Given the description of an element on the screen output the (x, y) to click on. 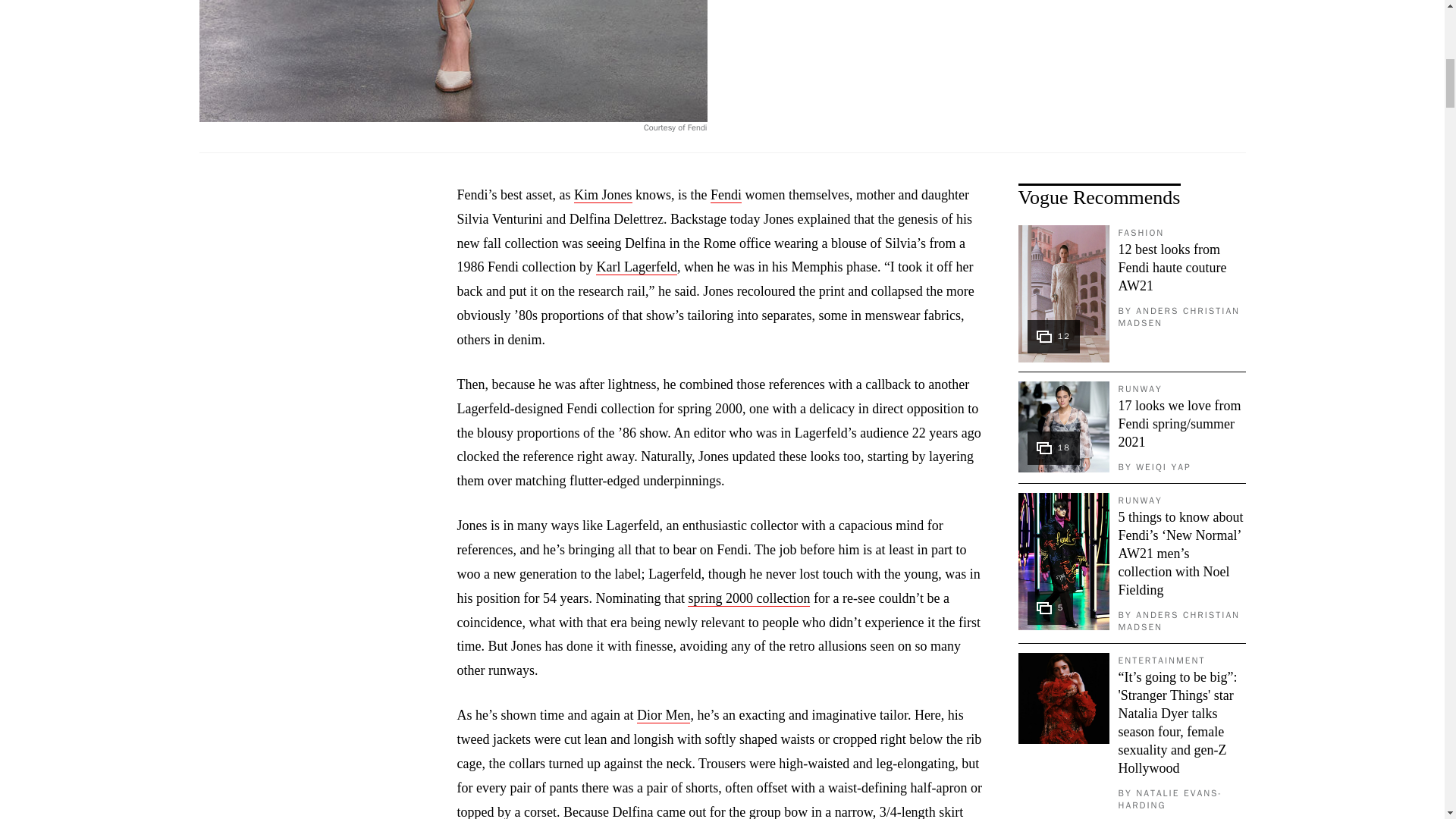
Karl Lagerfeld (636, 267)
Fendi (725, 195)
spring 2000 collection (748, 598)
Kim Jones (602, 195)
Dior Men (663, 715)
